Given the description of an element on the screen output the (x, y) to click on. 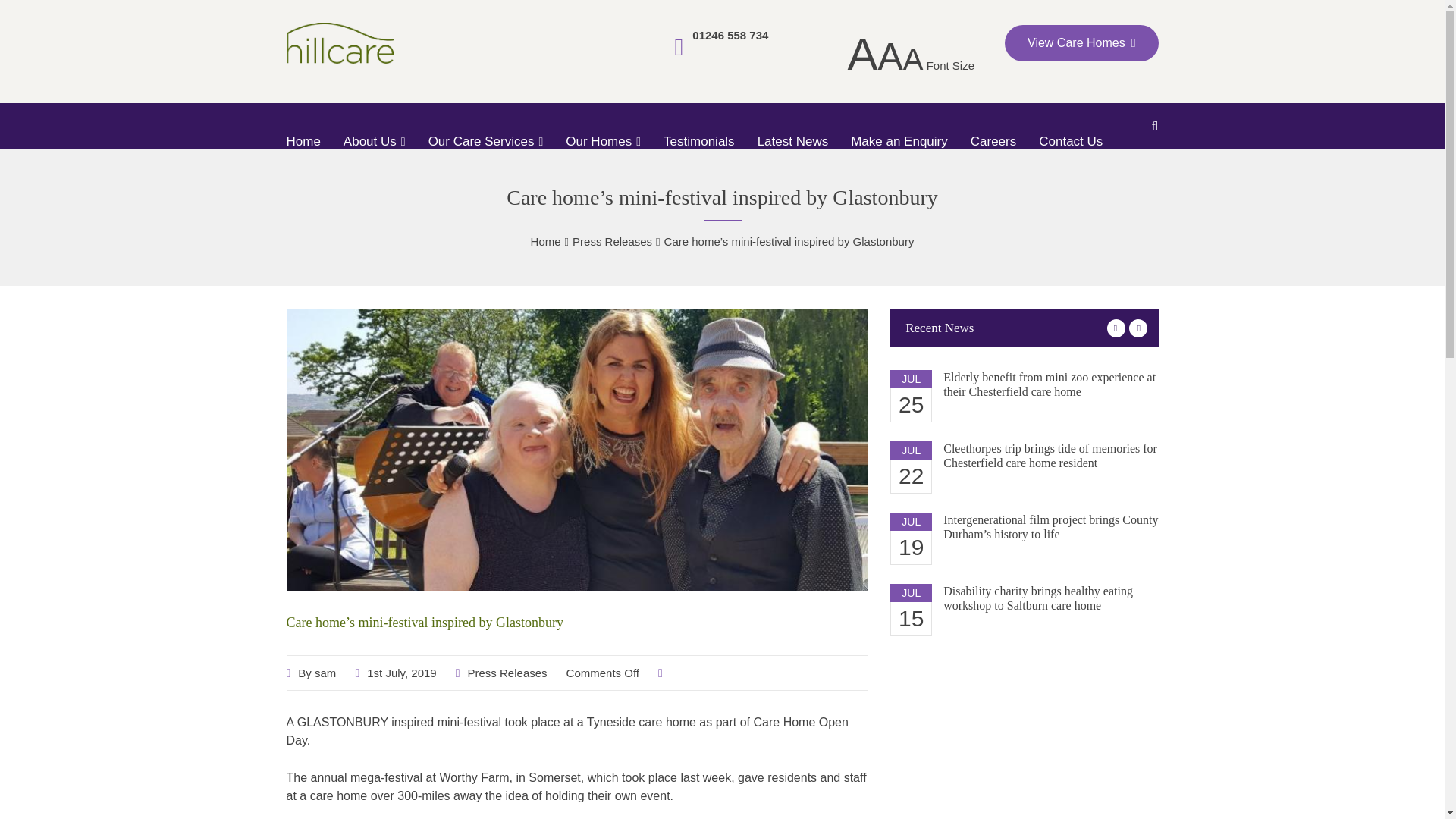
Posts by sam (325, 672)
View Care Homes (1080, 43)
